Given the description of an element on the screen output the (x, y) to click on. 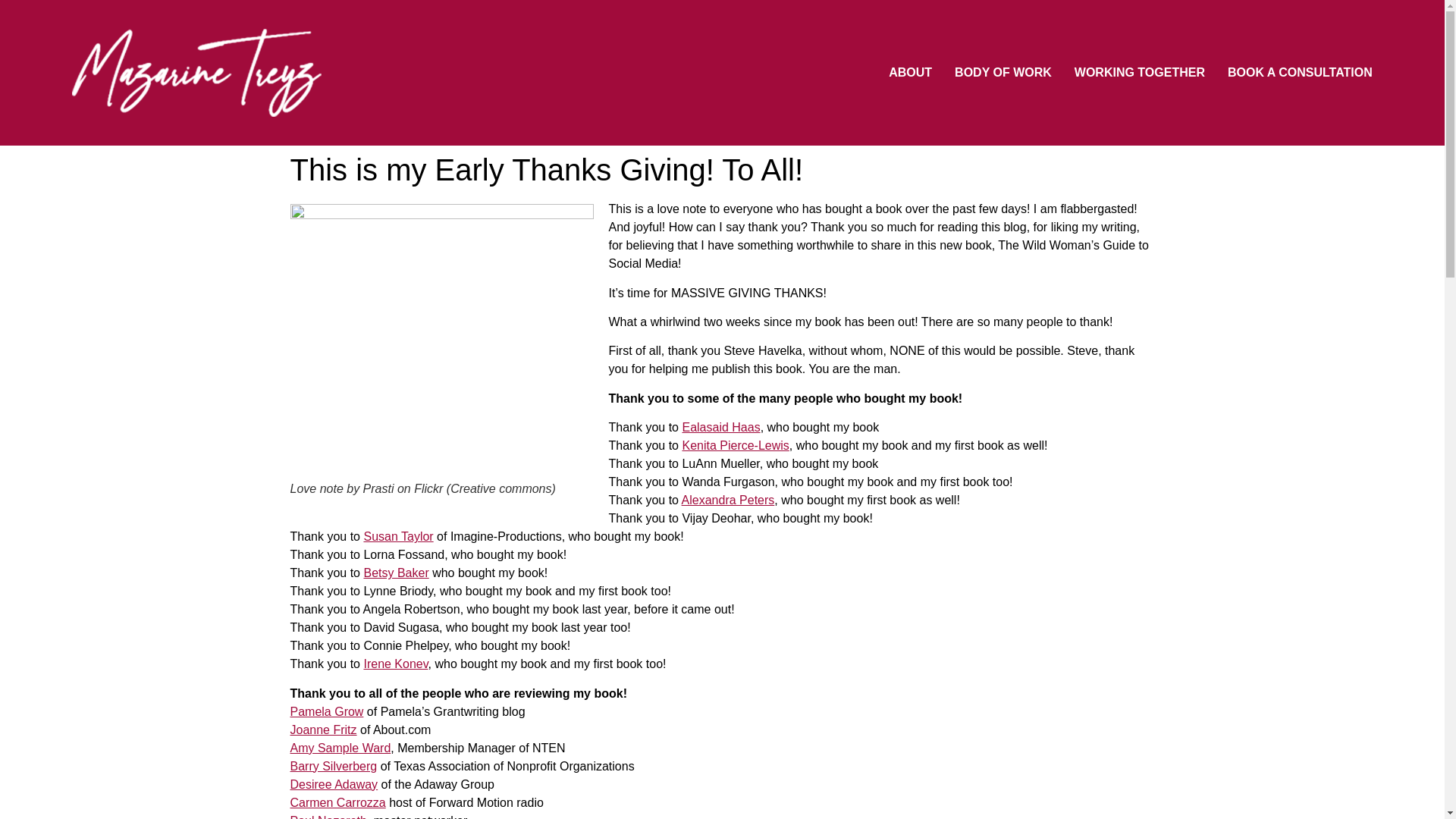
lovenote-by-prasti-on-Flckr (440, 341)
Ealasaid Haas (720, 427)
Kenita Pierce-Lewis (735, 445)
WORKING TOGETHER (1139, 72)
Susan Taylor (397, 535)
Barry Silverberg (333, 766)
BOOK A CONSULTATION (1300, 72)
Alexandra Peters (727, 499)
Betsy Baker (395, 572)
Desiree Adaway (333, 784)
